Given the description of an element on the screen output the (x, y) to click on. 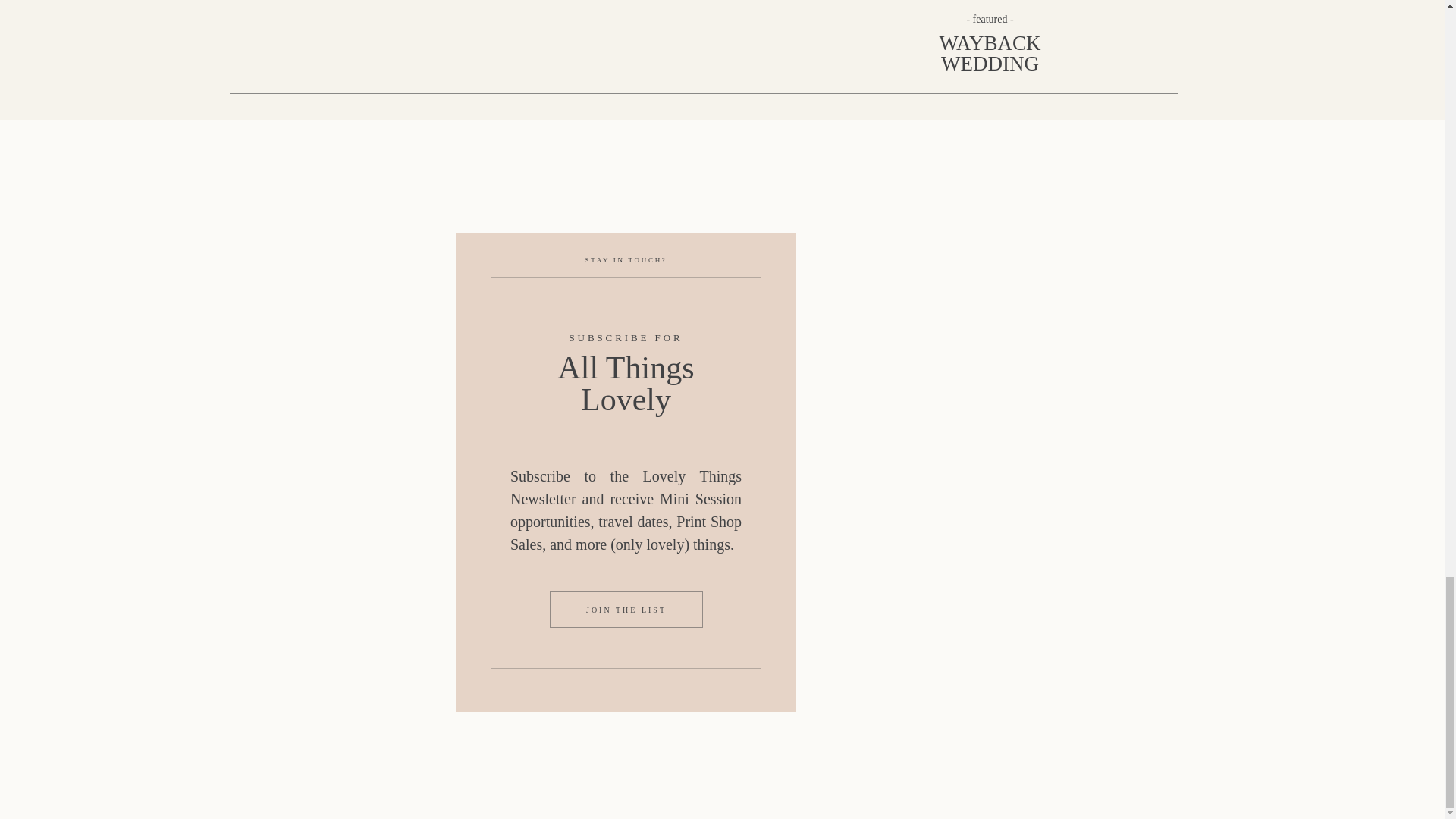
- featured - (989, 17)
here (598, 110)
WAYBACK WEDDING (990, 54)
